Given the description of an element on the screen output the (x, y) to click on. 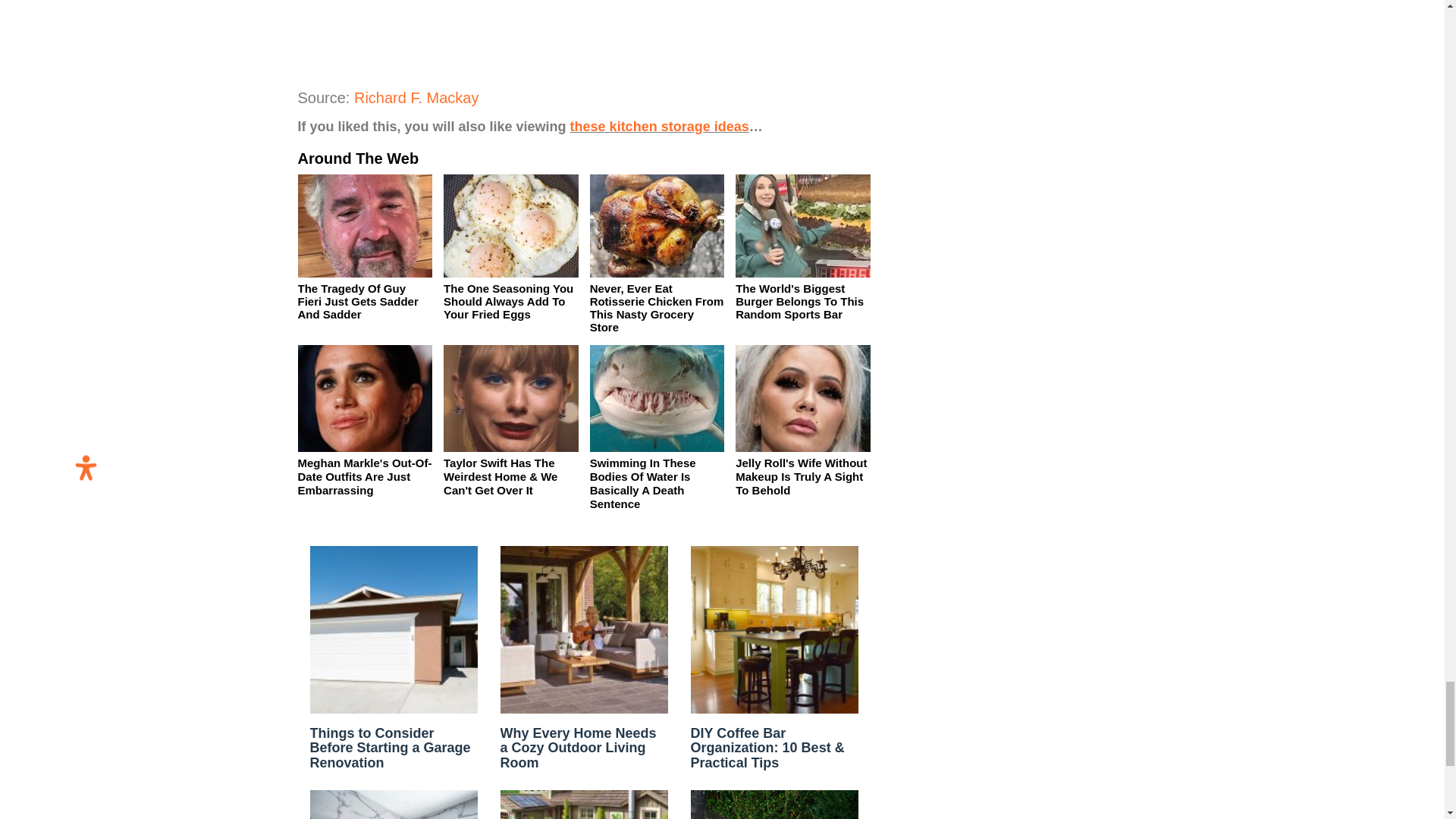
Richard F. Mackay (416, 97)
The One Seasoning You Should Always Add To Your Fried Eggs (508, 301)
these kitchen storage ideas (659, 126)
Meghan Markle's Out-Of-Date Outfits Are Just Embarrassing (363, 476)
The World's Biggest Burger Belongs To This Random Sports Bar (799, 301)
Why Every Home Needs a Cozy Outdoor Living Room (578, 748)
Jelly Roll's Wife Without Makeup Is Truly A Sight To Behold (800, 476)
Things to Consider Before Starting a Garage Renovation (389, 748)
The Tragedy Of Guy Fieri Just Gets Sadder And Sadder (357, 301)
